Given the description of an element on the screen output the (x, y) to click on. 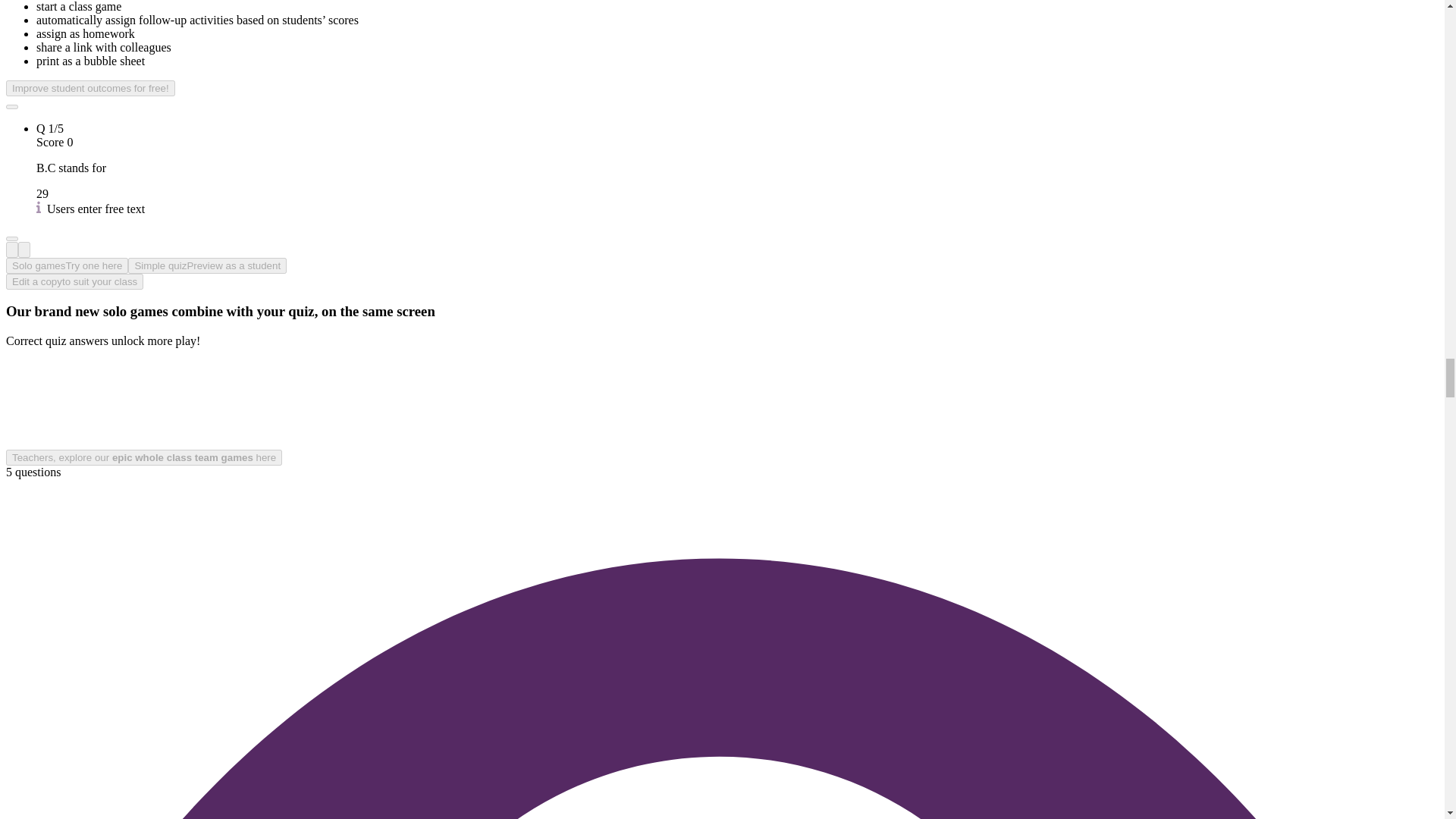
Teachers, explore our epic whole class team games here (143, 457)
Simple quizPreview as a student (207, 265)
Improve student outcomes for free! (89, 88)
Teachers, explore our epic whole class team games here (143, 456)
Edit a copyto suit your class (73, 281)
Solo gamesTry one here (66, 265)
